Given the description of an element on the screen output the (x, y) to click on. 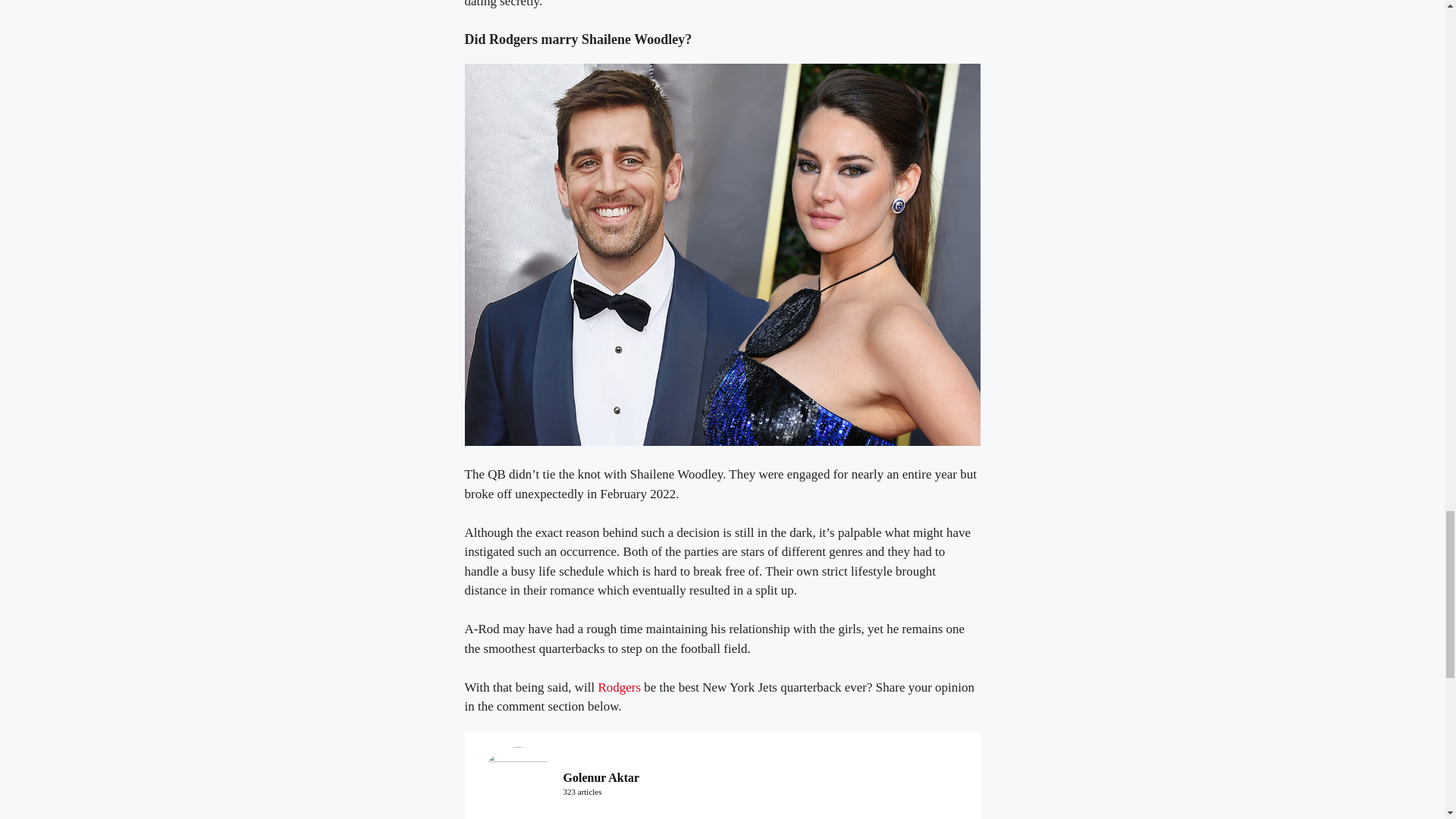
Rodgers (618, 687)
